Given the description of an element on the screen output the (x, y) to click on. 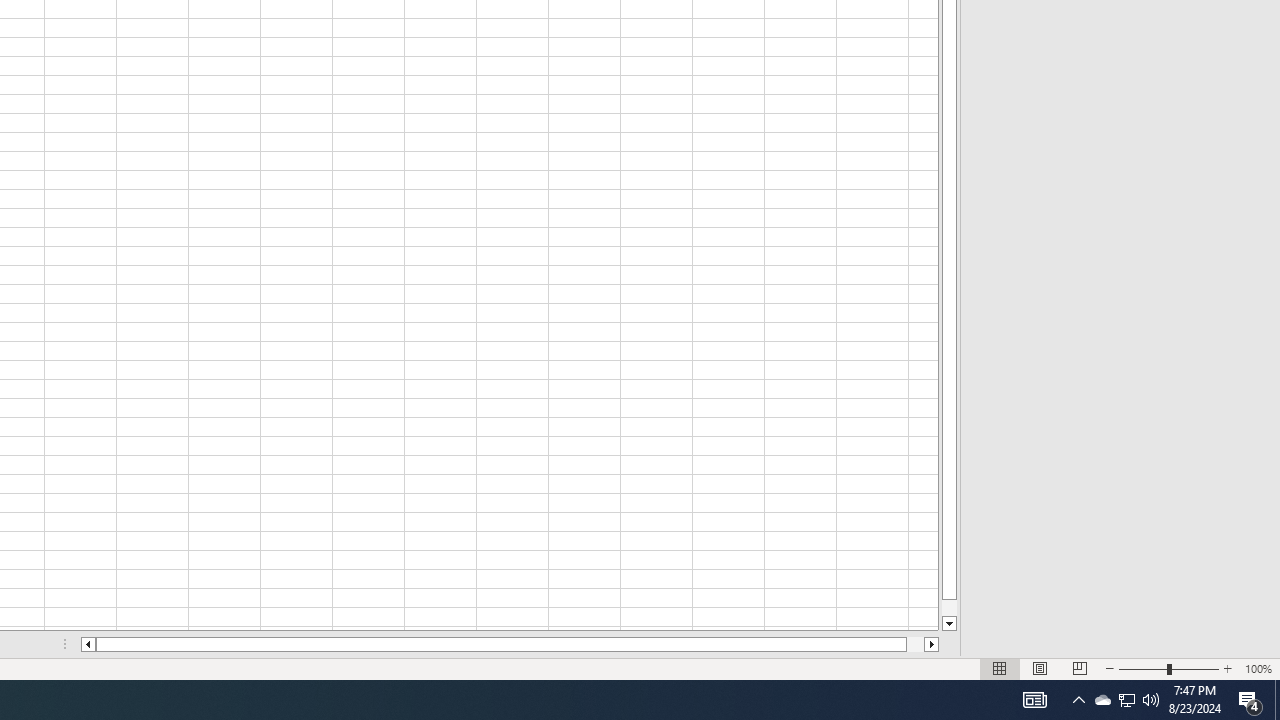
Page right (915, 644)
Page Layout (1039, 668)
Zoom Out (1142, 668)
Line down (948, 624)
Normal (1000, 668)
Column left (87, 644)
Page down (948, 607)
Zoom In (1227, 668)
Class: NetUIScrollBar (509, 644)
Page Break Preview (1079, 668)
Zoom (1168, 668)
Column right (932, 644)
